Given the description of an element on the screen output the (x, y) to click on. 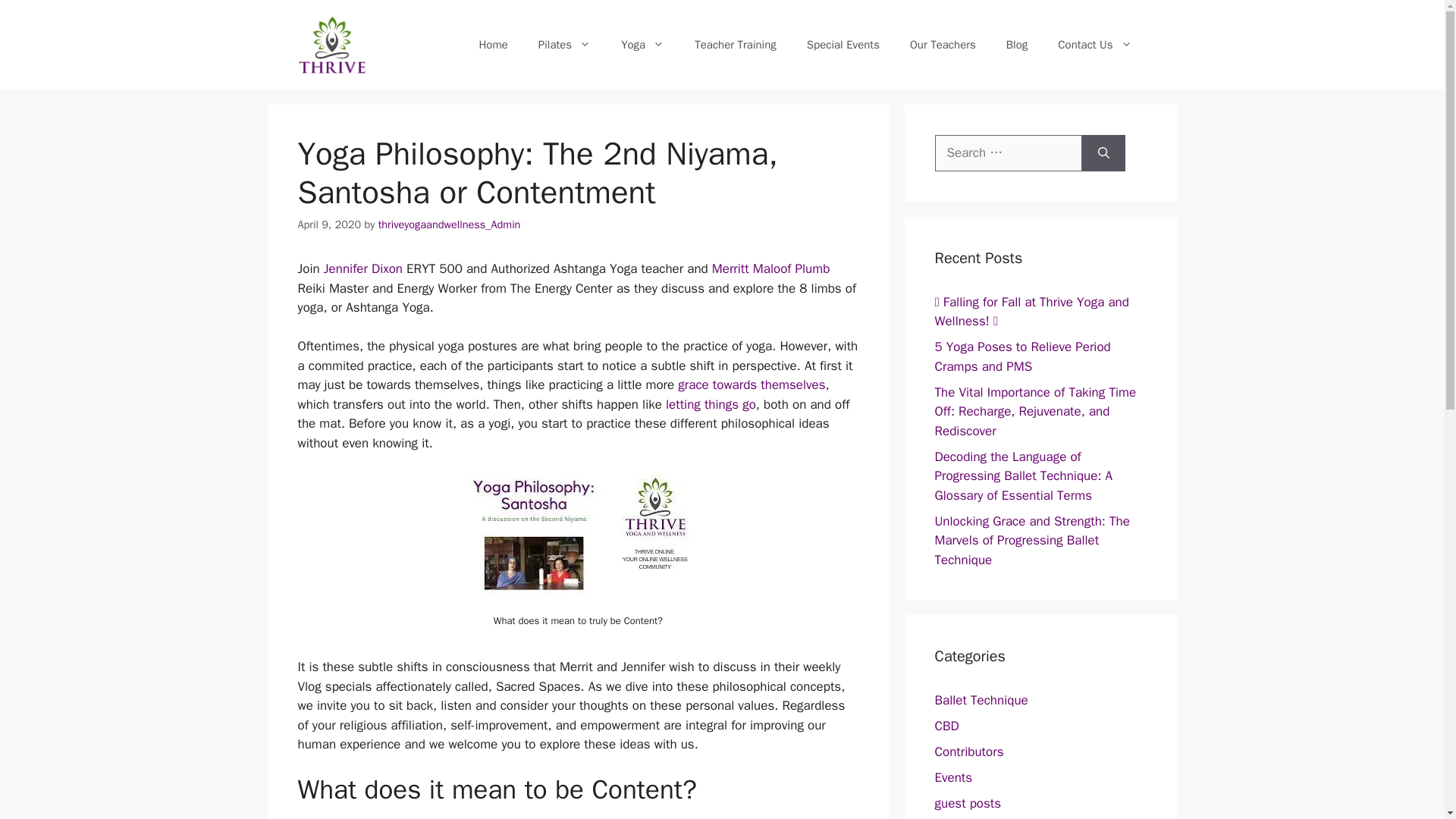
grace towards themselves (751, 384)
Pilates (563, 44)
Merritt Maloof Plumb (770, 268)
Special Events (843, 44)
Teacher Training (735, 44)
Jennifer Dixon (364, 268)
Search for: (1007, 153)
letting things go (710, 404)
Contact Us (1094, 44)
Home (492, 44)
